Given the description of an element on the screen output the (x, y) to click on. 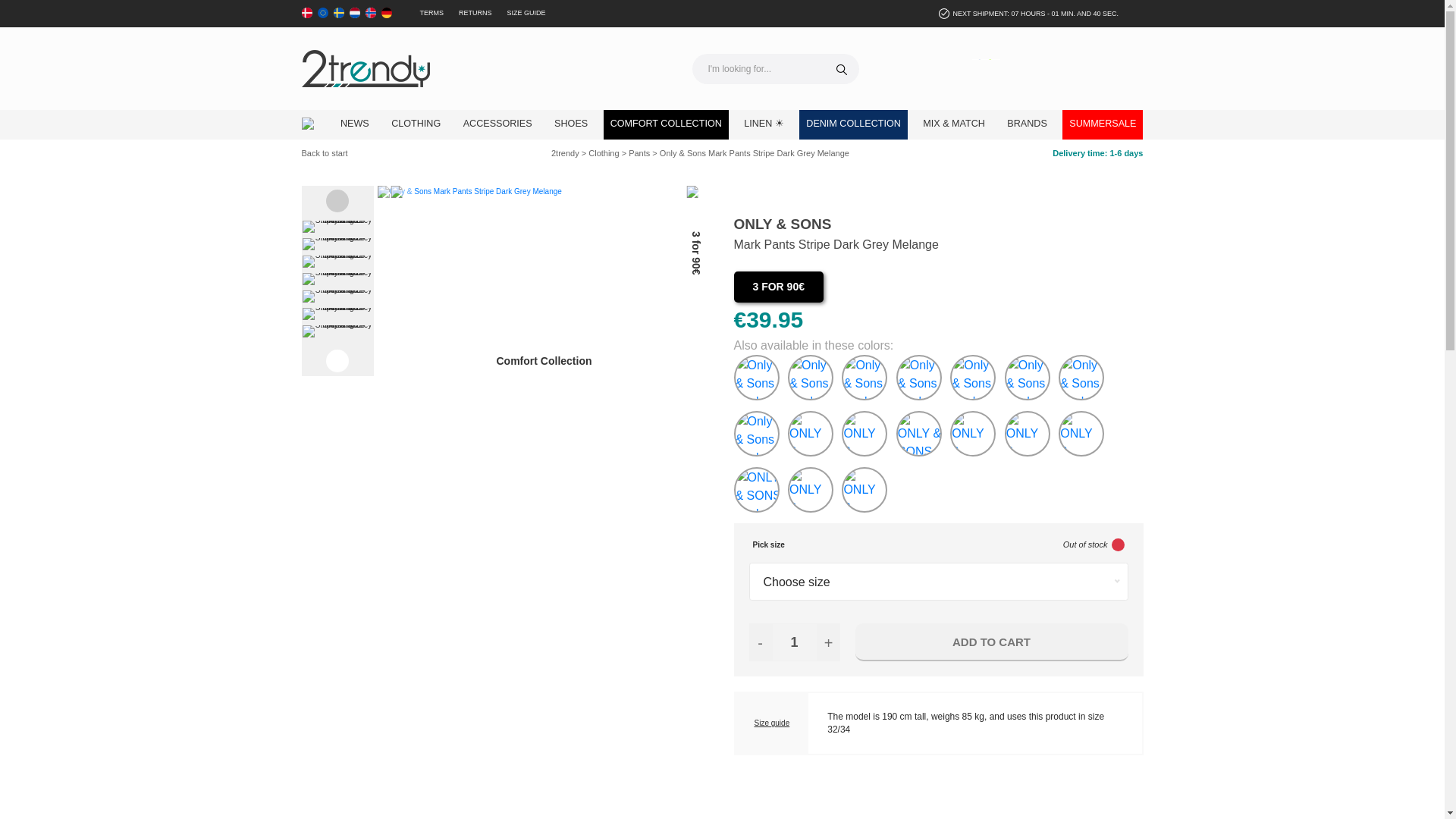
Clothing (415, 124)
News (354, 124)
Add to cart (992, 641)
August 22, 2024 16:30 (1035, 13)
1 (793, 641)
